Given the description of an element on the screen output the (x, y) to click on. 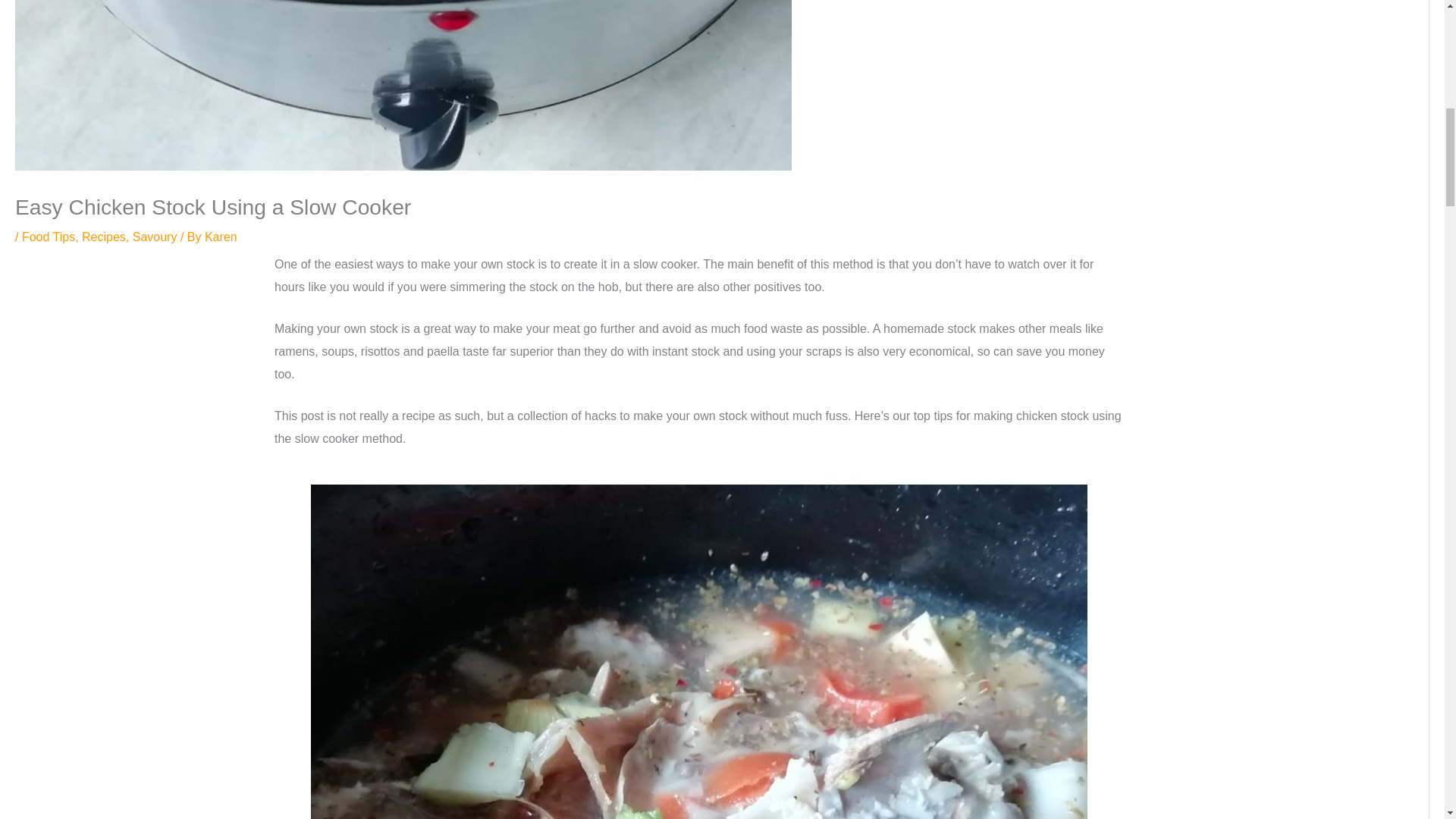
Karen (221, 236)
Food Tips (48, 236)
View all posts by Karen (221, 236)
Savoury (154, 236)
Recipes (103, 236)
